Given the description of an element on the screen output the (x, y) to click on. 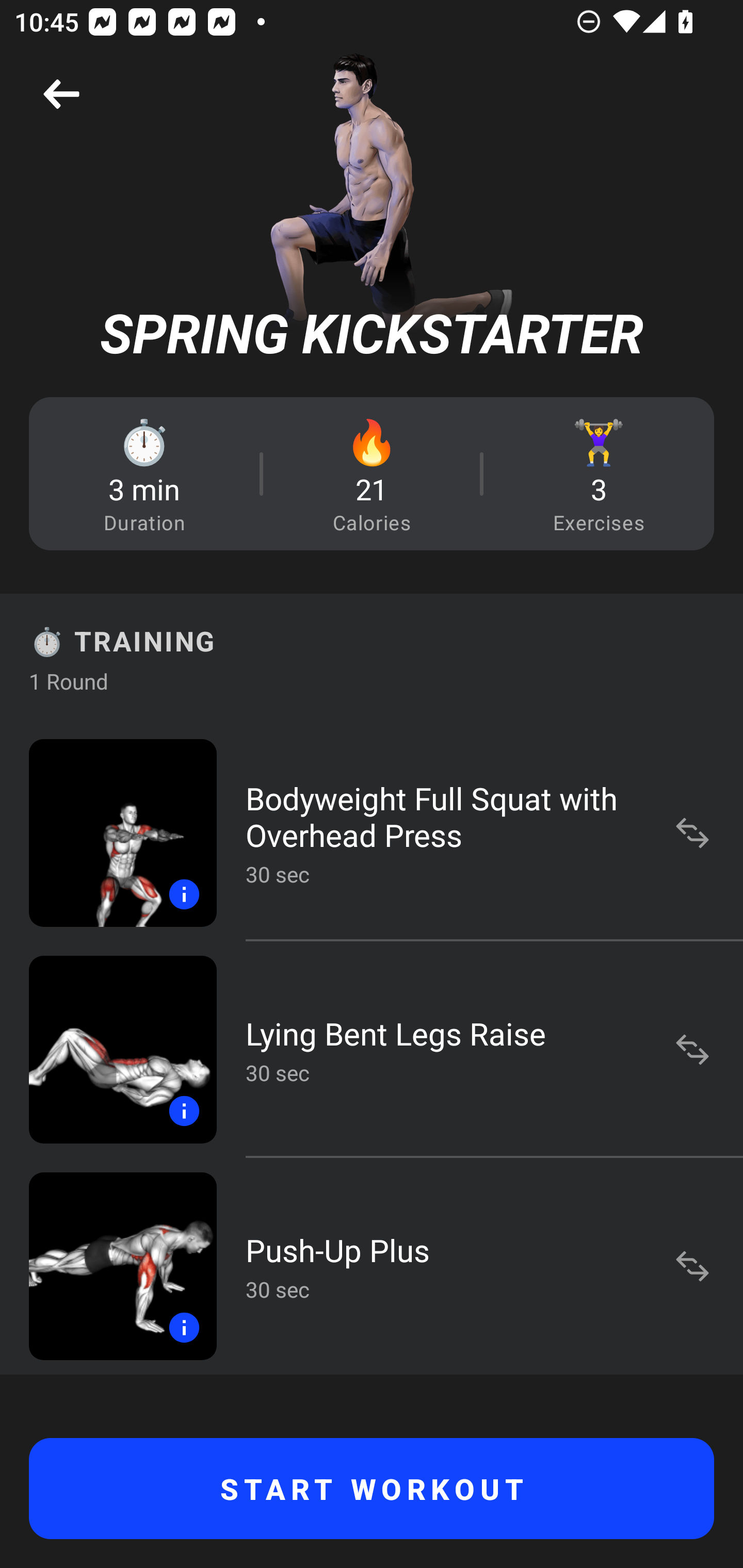
Bodyweight Full Squat with Overhead Press 30 sec (371, 832)
Lying Bent Legs Raise 30 sec (371, 1048)
Push-Up Plus 30 sec (371, 1266)
START WORKOUT (371, 1488)
